Given the description of an element on the screen output the (x, y) to click on. 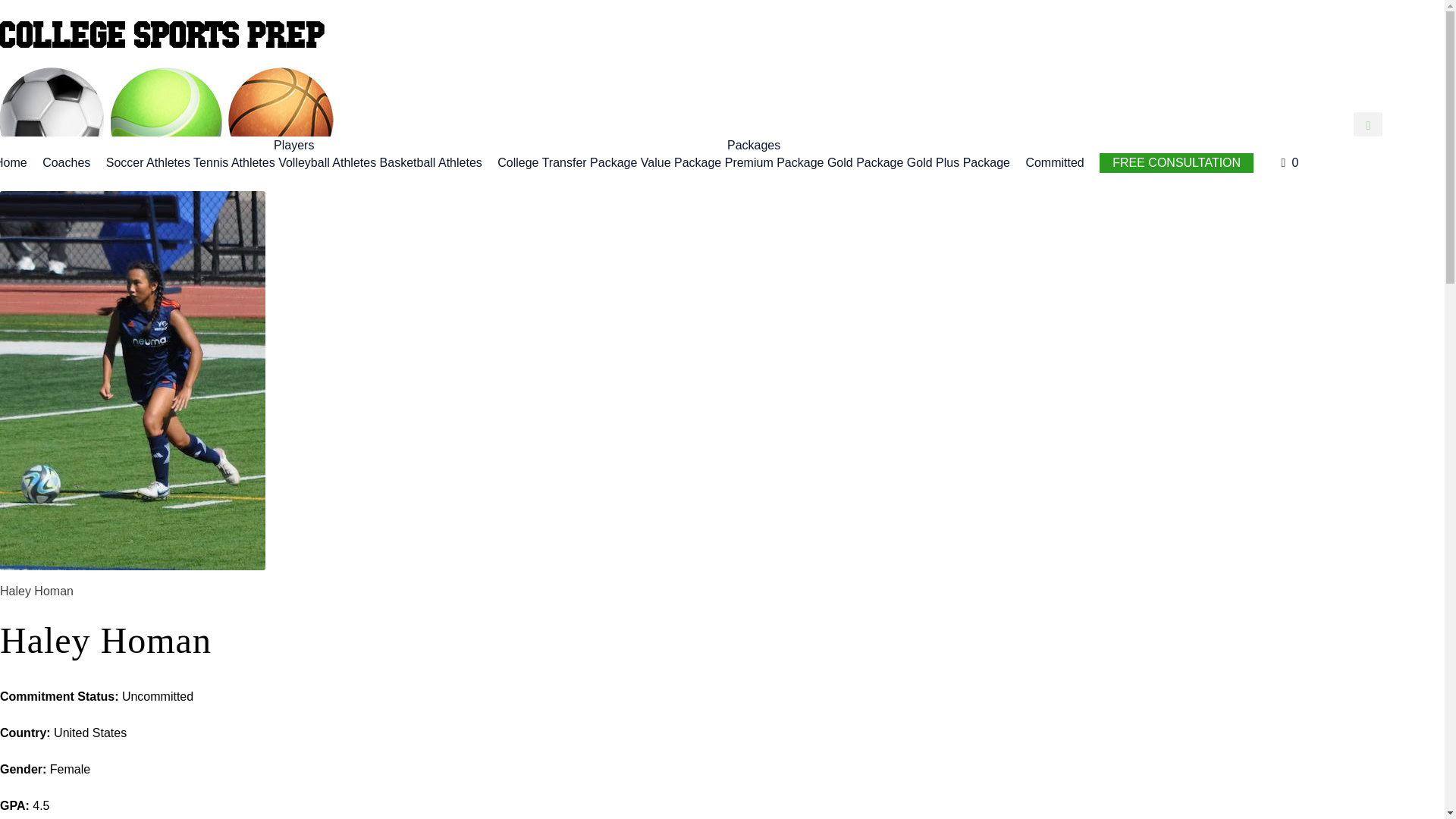
Tennis Athletes (234, 162)
Committed (1054, 162)
Players (293, 145)
0 (1290, 162)
College Transfer Package (567, 162)
Home (13, 162)
Premium Package (774, 162)
Coaches (66, 162)
FREE CONSULTATION (1176, 162)
Basketball Athletes (430, 162)
Volleyball Athletes (326, 162)
Value Package (680, 162)
Packages (753, 145)
Soccer Athletes (148, 162)
Gold Package (865, 162)
